Given the description of an element on the screen output the (x, y) to click on. 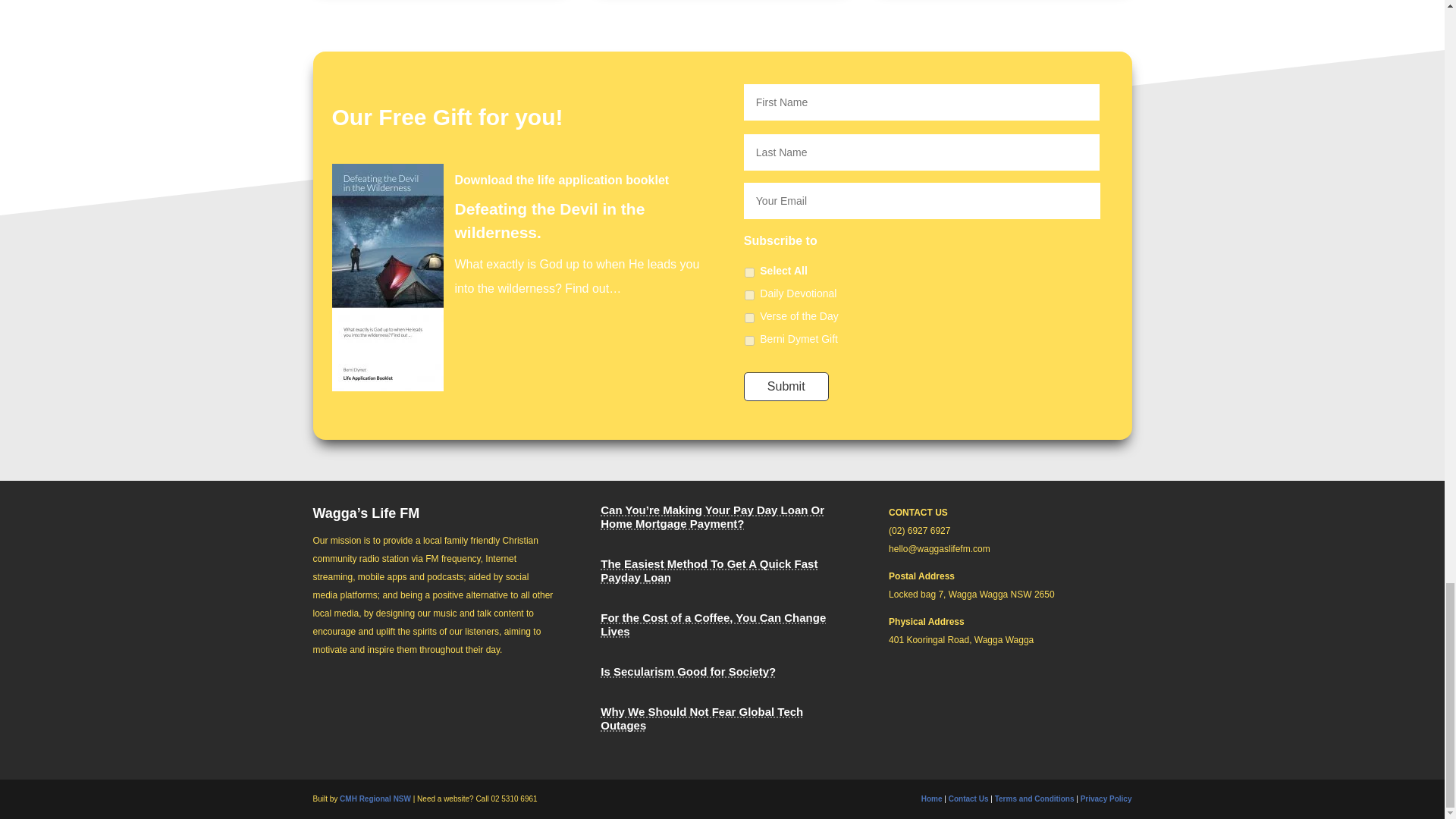
Verse of the Day (749, 317)
Daily Devotional (749, 295)
Berni Dymet Gift (749, 340)
Submit (786, 387)
on (749, 272)
